Given the description of an element on the screen output the (x, y) to click on. 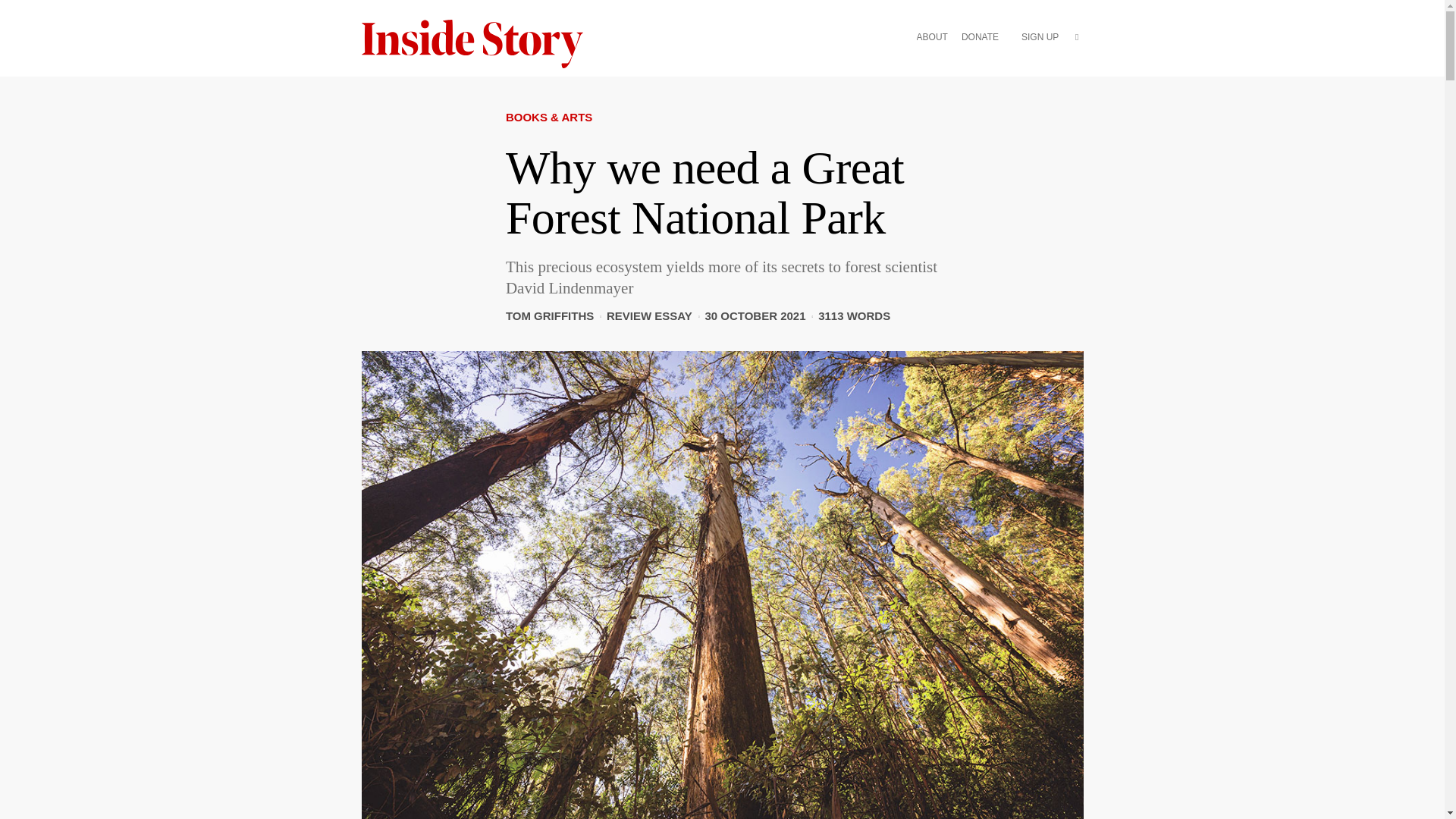
Inside Story (482, 43)
SIGN UP (1040, 37)
ABOUT (932, 37)
Search (1076, 60)
DONATE (979, 37)
TOM GRIFFITHS (549, 315)
